Given the description of an element on the screen output the (x, y) to click on. 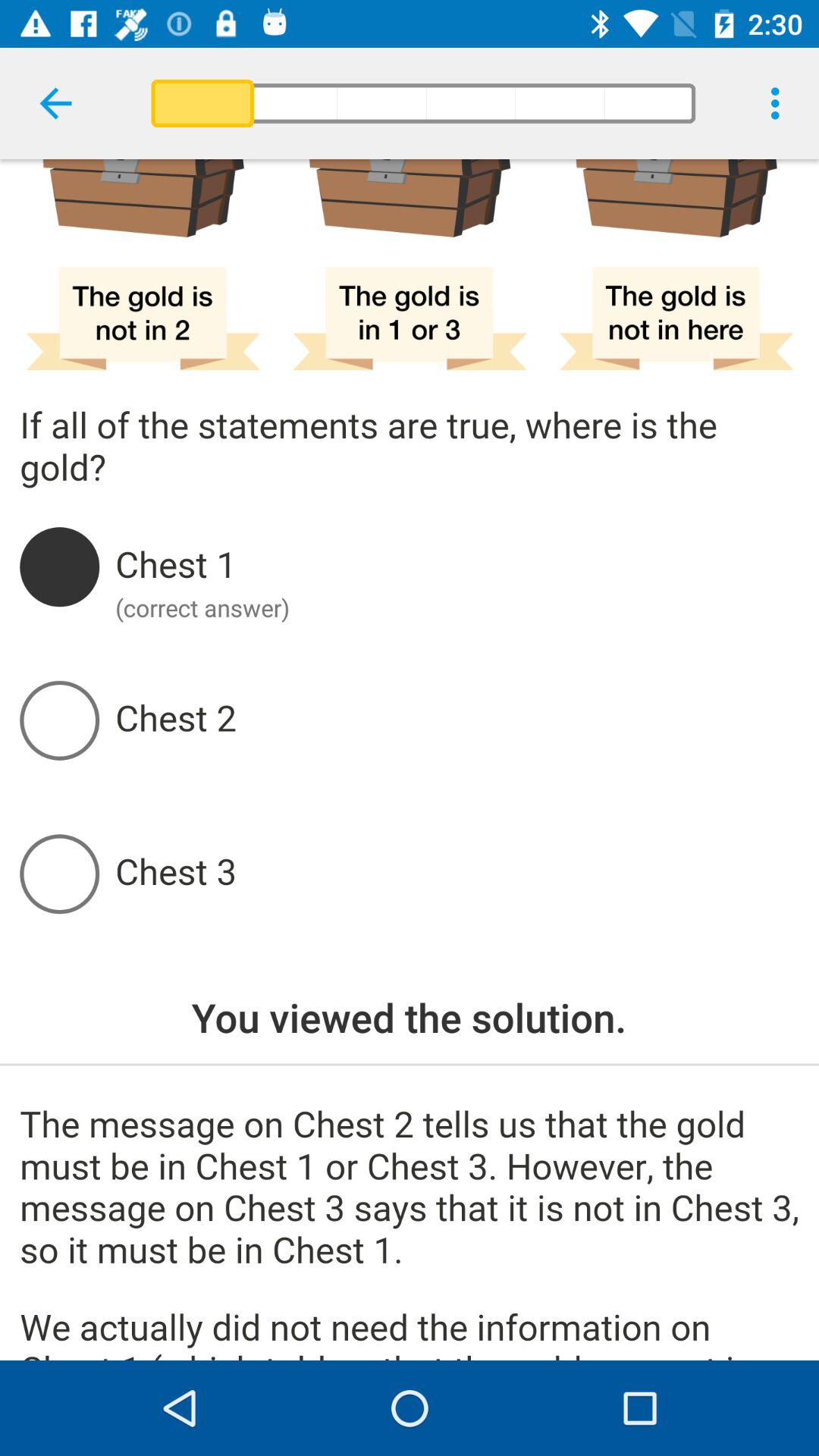
select option two (457, 720)
